Given the description of an element on the screen output the (x, y) to click on. 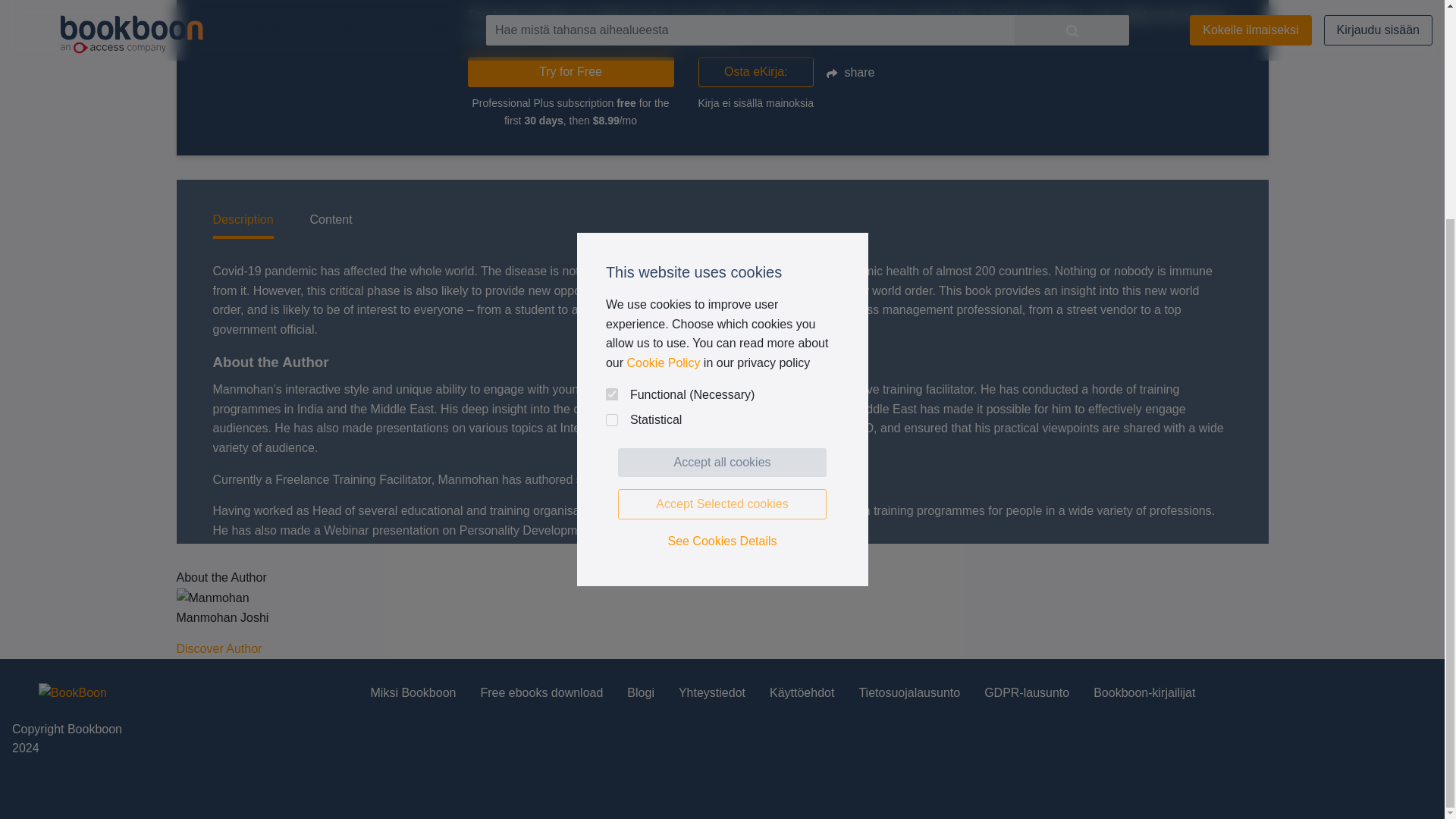
Cookie Policy (663, 72)
Accept all cookies (722, 172)
STATISTICAL (611, 130)
See Cookies Details (722, 251)
FUNCTIONAL (611, 104)
Accept Selected cookies (722, 214)
